Given the description of an element on the screen output the (x, y) to click on. 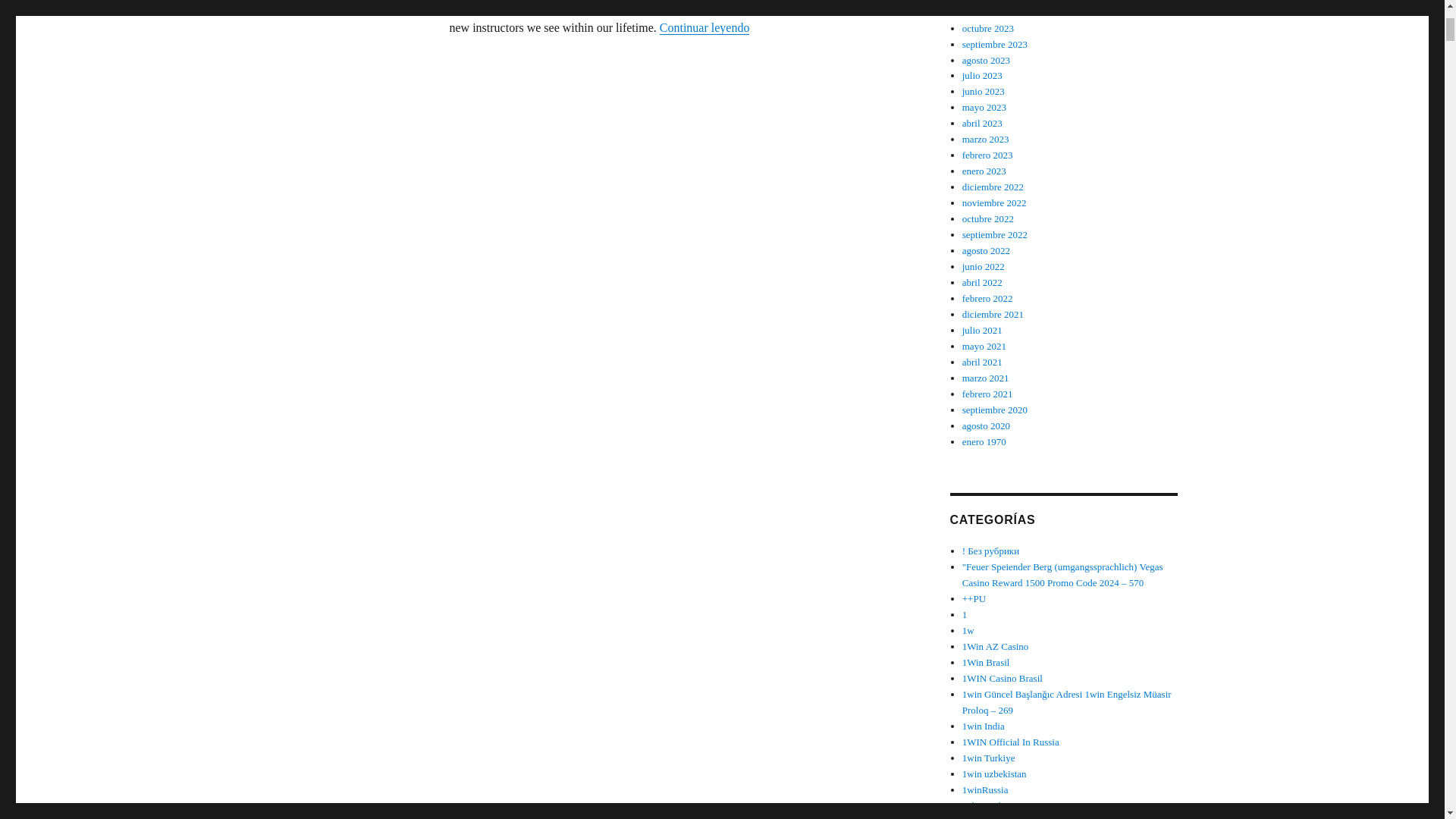
octubre 2022 (987, 218)
noviembre 2023 (994, 12)
febrero 2023 (987, 154)
noviembre 2022 (994, 202)
abril 2023 (982, 122)
mayo 2023 (984, 107)
agosto 2023 (986, 60)
julio 2023 (982, 75)
septiembre 2022 (994, 234)
diciembre 2022 (992, 186)
